Given the description of an element on the screen output the (x, y) to click on. 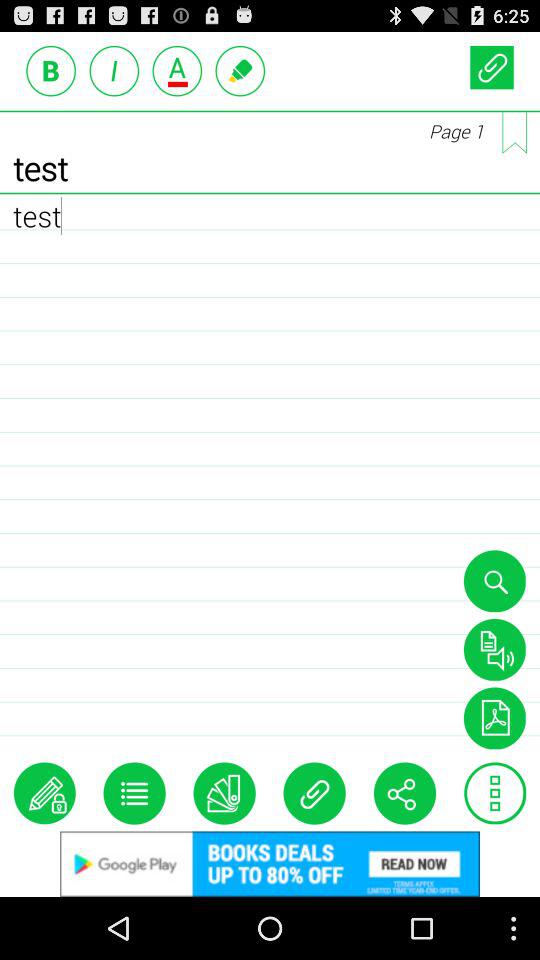
click attach option (314, 793)
